Given the description of an element on the screen output the (x, y) to click on. 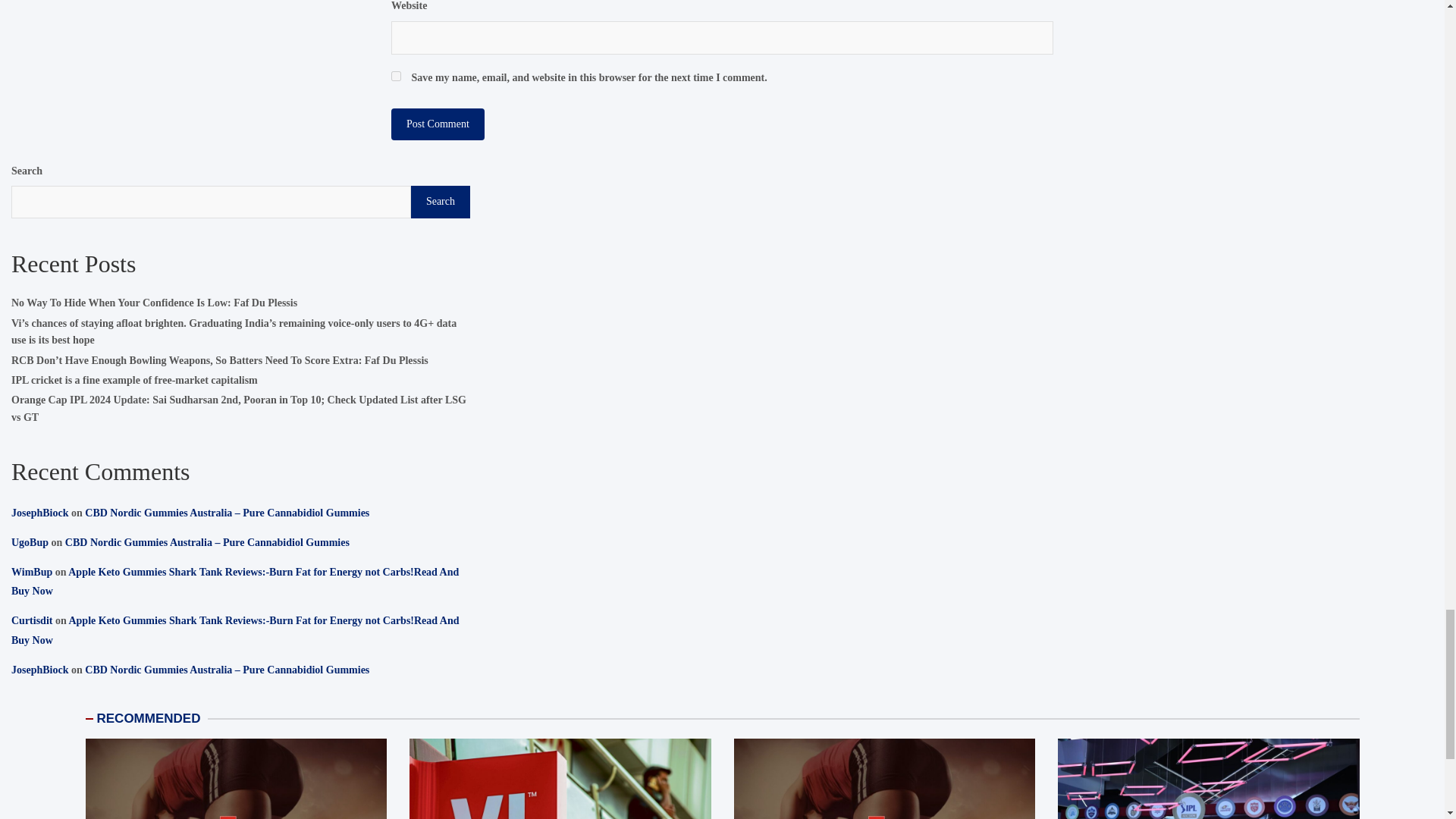
Post Comment (437, 124)
yes (396, 76)
